Given the description of an element on the screen output the (x, y) to click on. 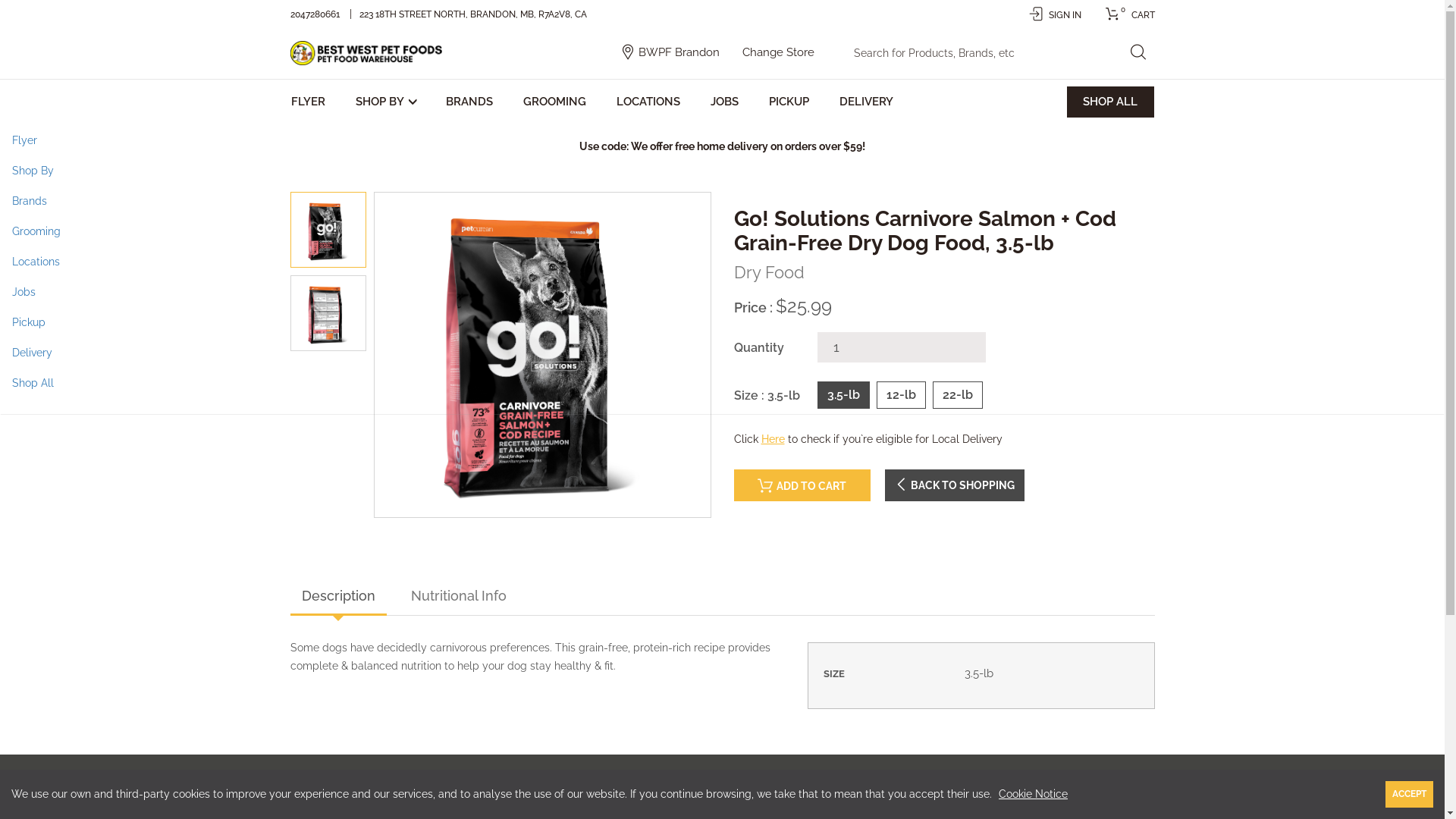
Change Store Element type: text (778, 52)
BACK TO SHOPPING Element type: text (953, 485)
ACCEPT Element type: text (1409, 794)
Nutritional Info Element type: text (457, 596)
2047280661 Element type: text (315, 14)
3.5-lb Element type: text (842, 395)
ADD TO CART Element type: text (802, 485)
BRANDS Element type: text (468, 101)
DELIVERY Element type: text (866, 101)
PICKUP Element type: text (788, 101)
GROOMING Element type: text (553, 101)
Locations Element type: text (721, 261)
Brands Element type: text (721, 200)
Shop All Element type: text (721, 382)
22-lb Element type: text (956, 395)
SIGN IN Element type: text (1054, 14)
Flyer Element type: text (721, 140)
Shop By Element type: text (721, 170)
223 18TH STREET NORTH, BRANDON, MB, R7A2V8, CA Element type: text (474, 14)
Cookie Notice Element type: text (1032, 793)
SHOP BY Element type: text (385, 101)
Jobs Element type: text (721, 291)
FLYER Element type: text (310, 101)
JOBS Element type: text (724, 101)
SHOP ALL Element type: text (1109, 101)
LOCATIONS Element type: text (648, 101)
0 CART Element type: text (1125, 14)
BWPF Brandon Element type: text (678, 52)
Description Element type: text (337, 596)
Pickup Element type: text (721, 322)
12-lb Element type: text (900, 395)
Grooming Element type: text (721, 231)
Delivery Element type: text (721, 352)
Here Element type: text (772, 438)
